Given the description of an element on the screen output the (x, y) to click on. 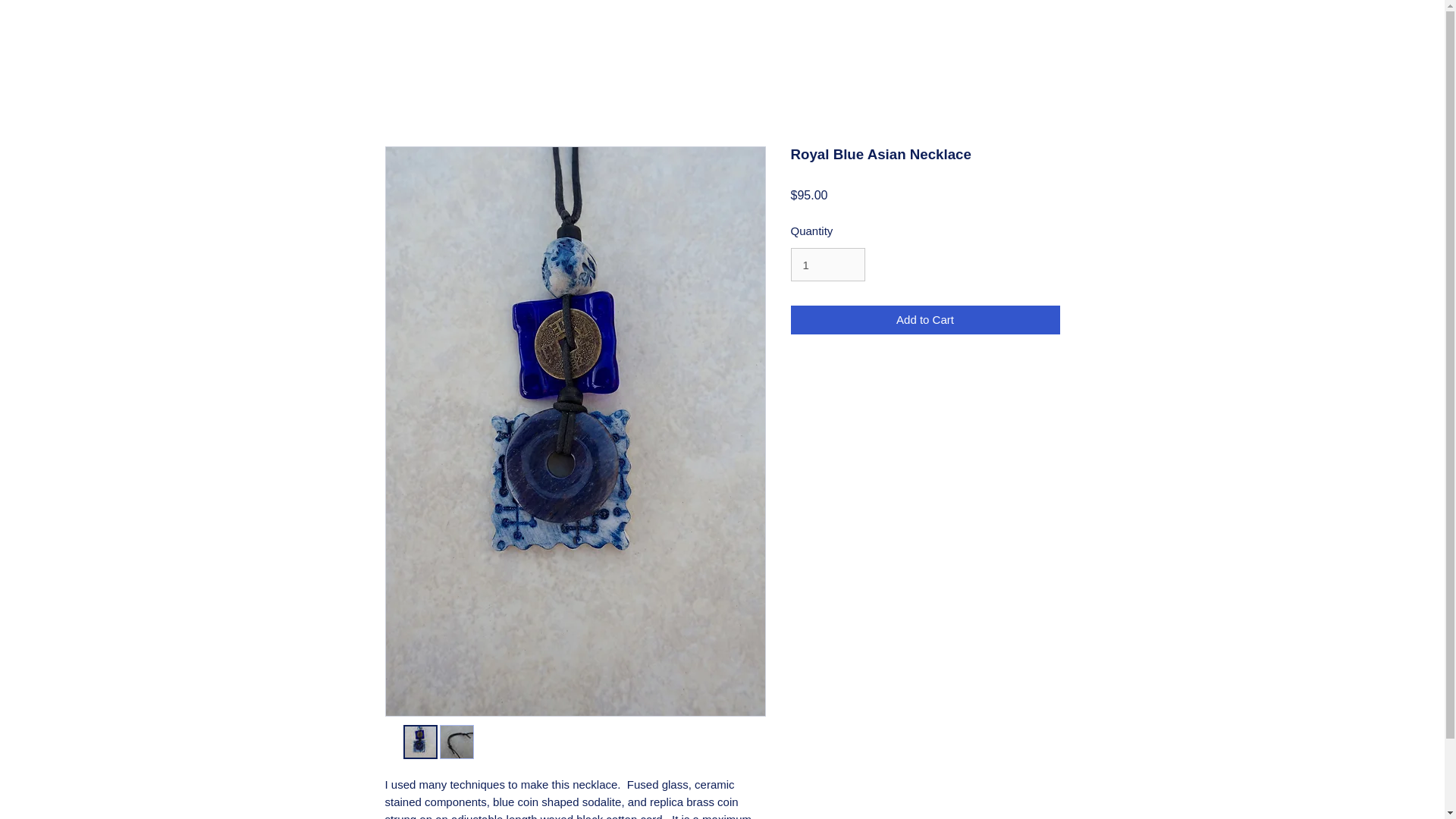
1 (827, 264)
Add to Cart (924, 319)
